Given the description of an element on the screen output the (x, y) to click on. 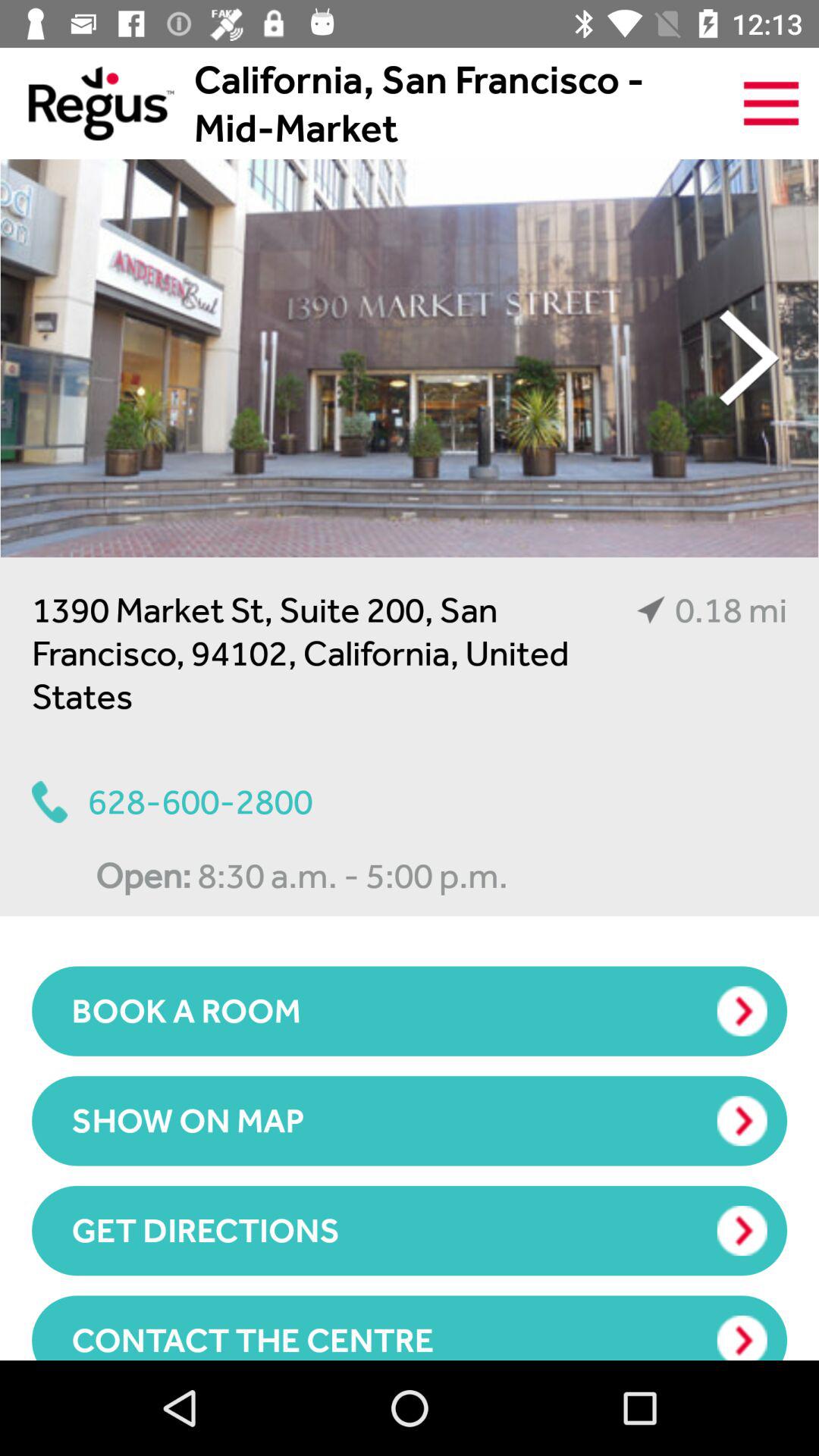
tap get directions item (409, 1230)
